Given the description of an element on the screen output the (x, y) to click on. 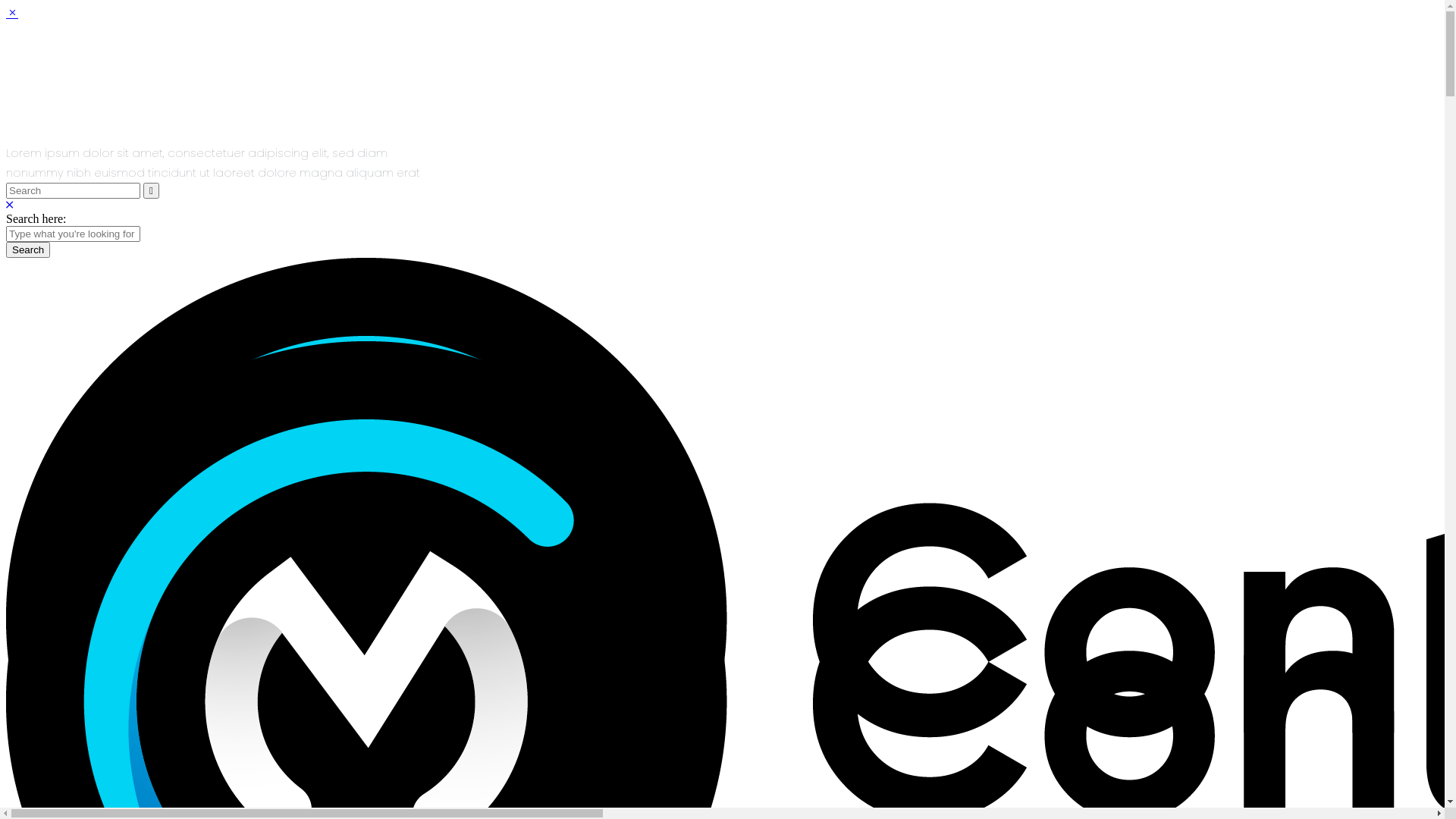
Search Element type: text (28, 249)
